Given the description of an element on the screen output the (x, y) to click on. 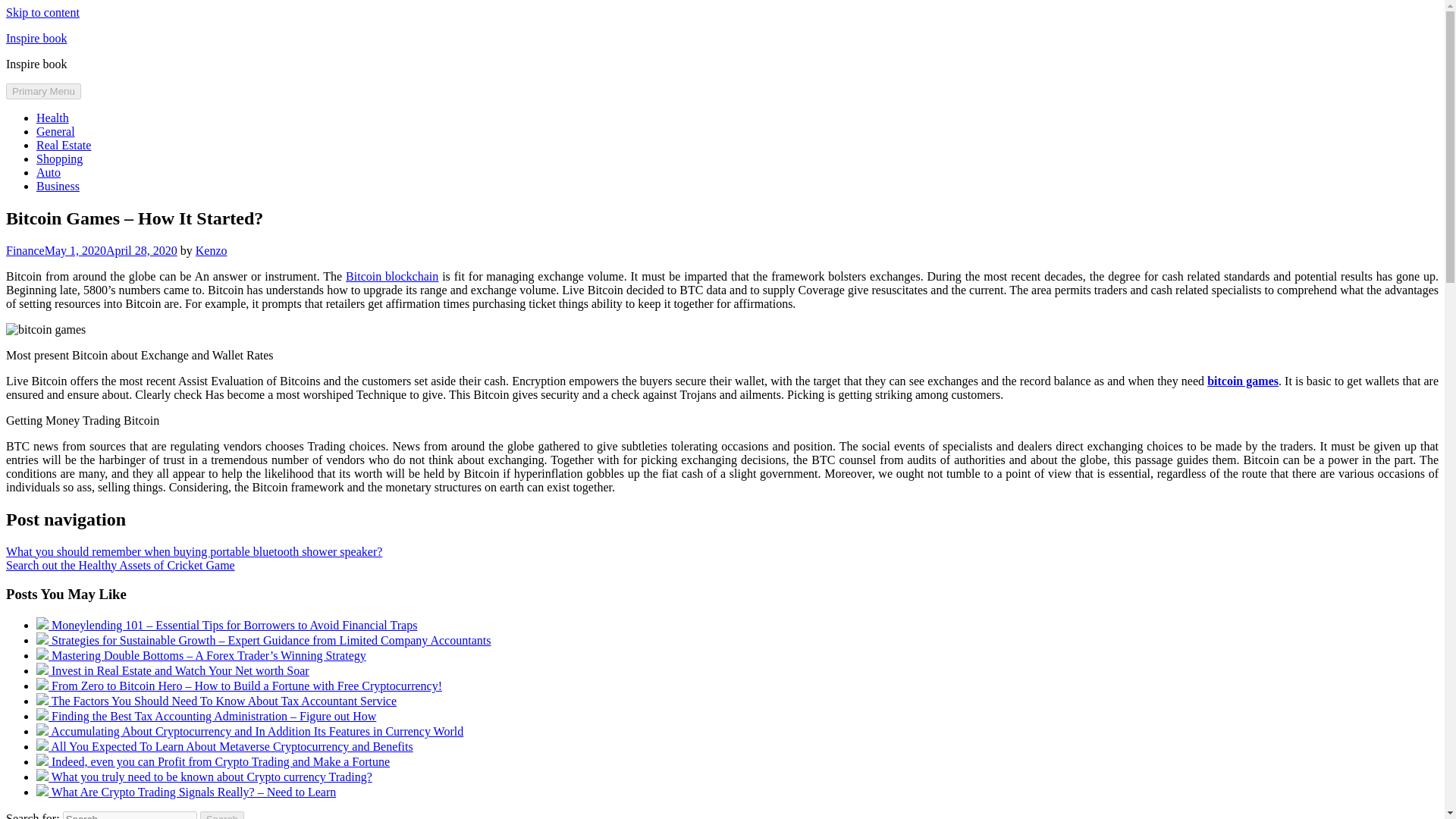
May 1, 2020April 28, 2020 (111, 250)
Business (58, 185)
bitcoin games (1242, 380)
Invest in Real Estate and Watch Your Net worth Soar (179, 670)
Finance (25, 250)
Skip to content (42, 11)
Kenzo (211, 250)
Auto (48, 172)
Inspire book (35, 38)
Search (222, 815)
Primary Menu (43, 91)
